Given the description of an element on the screen output the (x, y) to click on. 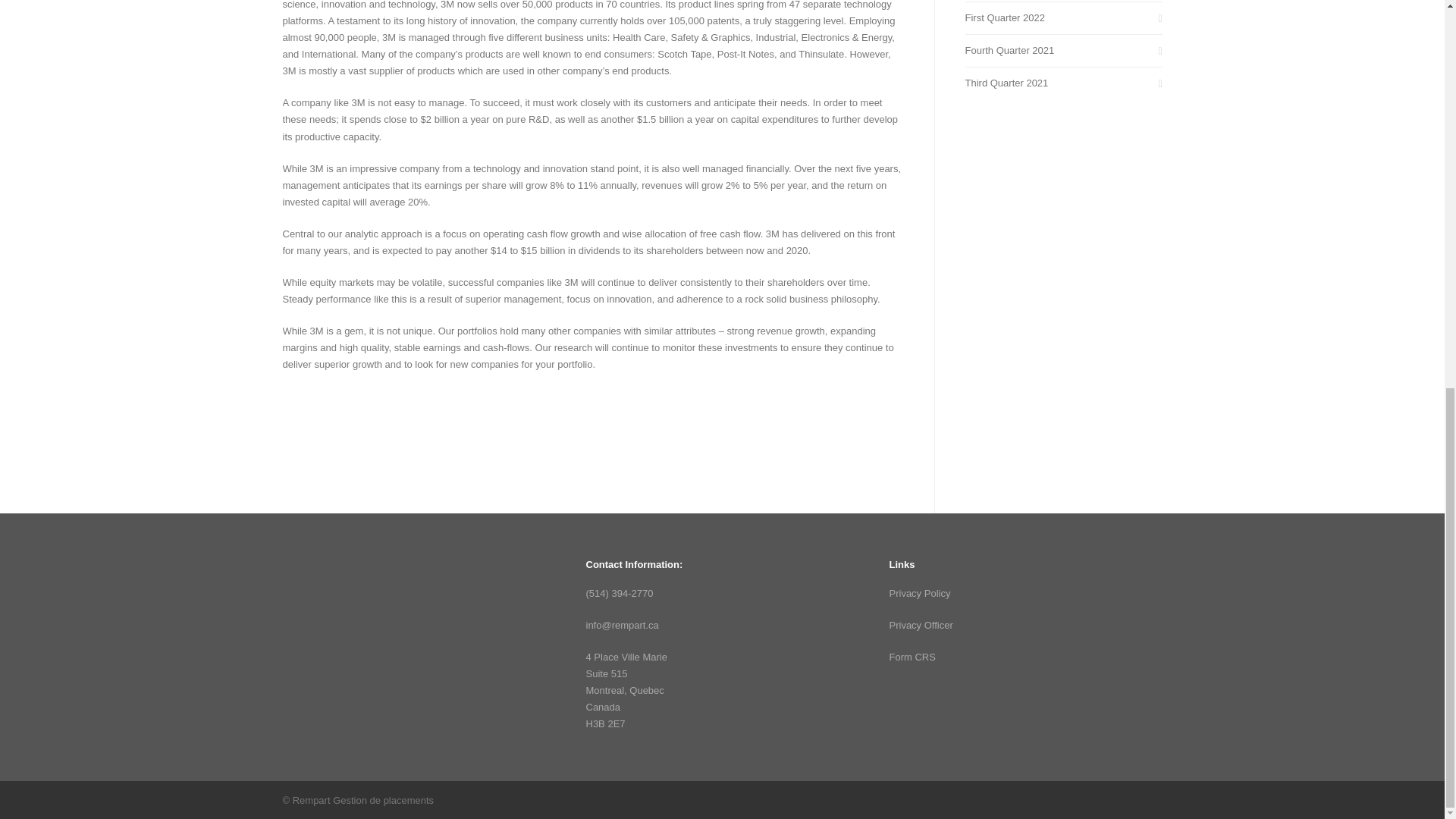
Fourth Quarter 2021 (1062, 50)
Form CRS (911, 656)
Third Quarter 2021 (1062, 83)
First Quarter 2022 (1062, 17)
Privacy Policy (919, 593)
Privacy Officer (920, 624)
